Given the description of an element on the screen output the (x, y) to click on. 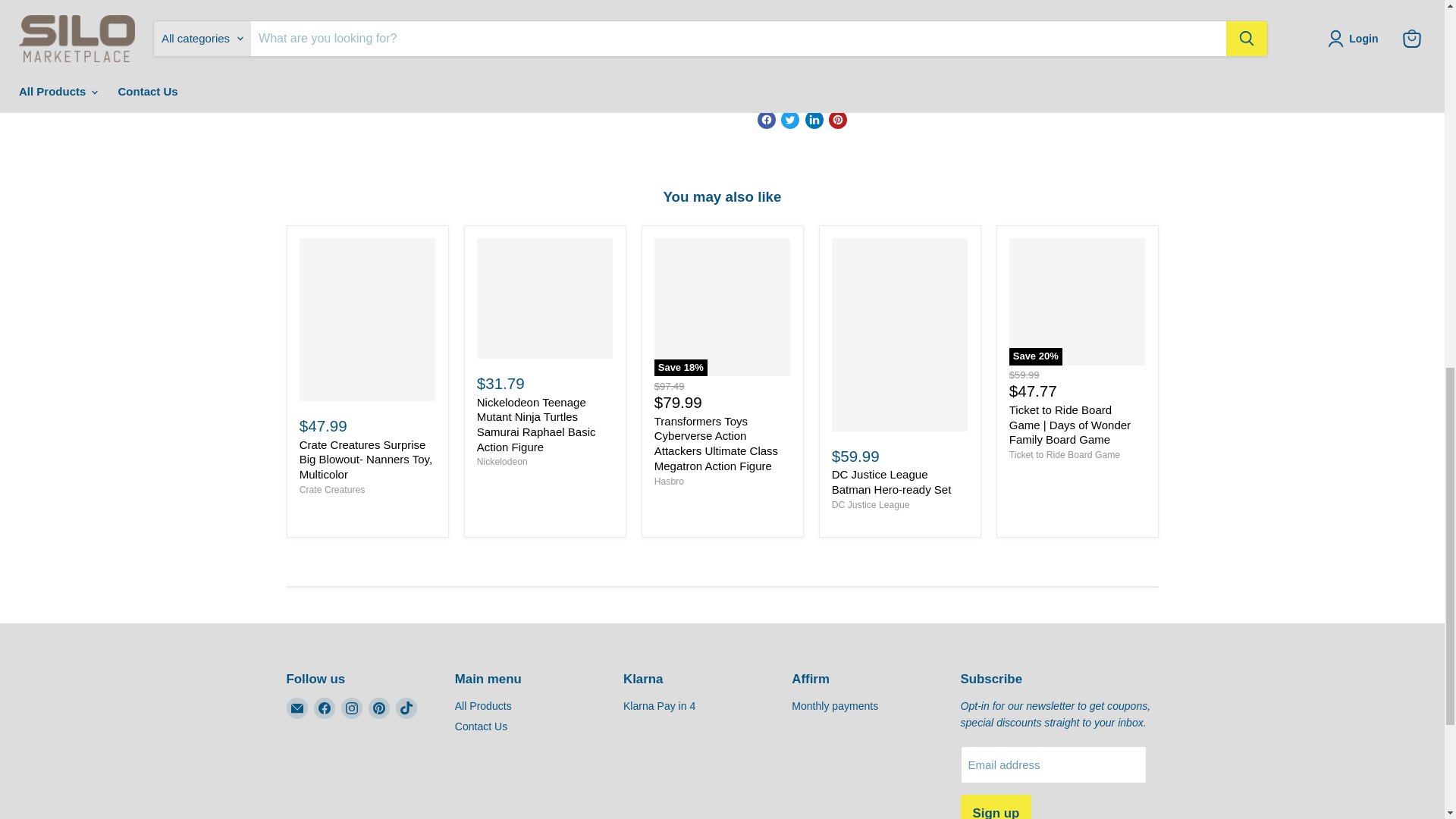
Nickelodeon (502, 461)
Crate Creatures (332, 489)
Hasbro (668, 480)
